Given the description of an element on the screen output the (x, y) to click on. 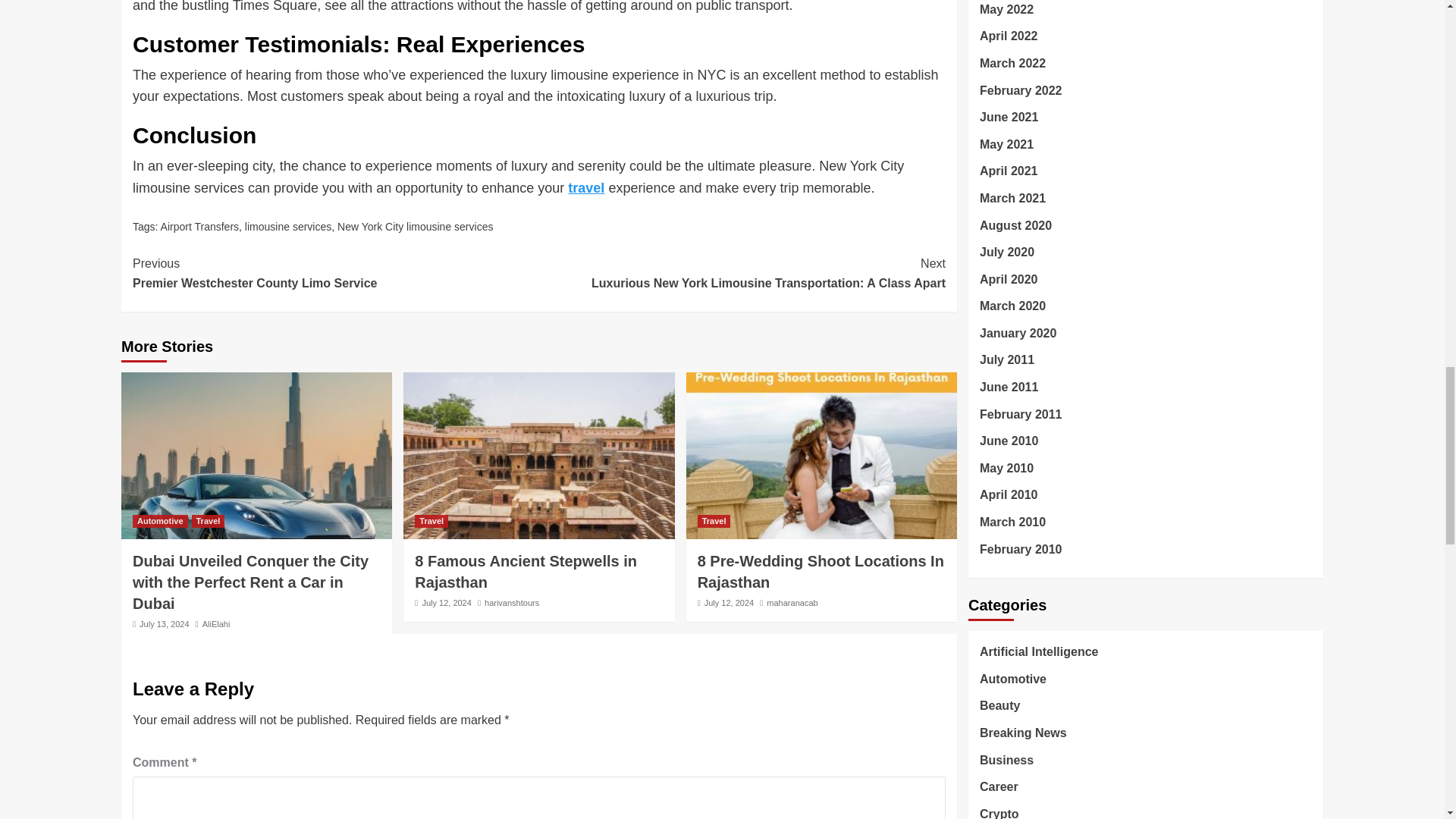
Automotive (159, 521)
Travel (431, 521)
New York City limousine services (415, 226)
July 12, 2024 (446, 602)
Airport Transfers (199, 226)
travel (335, 272)
8 Famous Ancient Stepwells in Rajasthan (585, 187)
AliElahi (525, 571)
harivanshtours (216, 623)
limousine services (511, 602)
July 13, 2024 (287, 226)
Travel (164, 623)
